Given the description of an element on the screen output the (x, y) to click on. 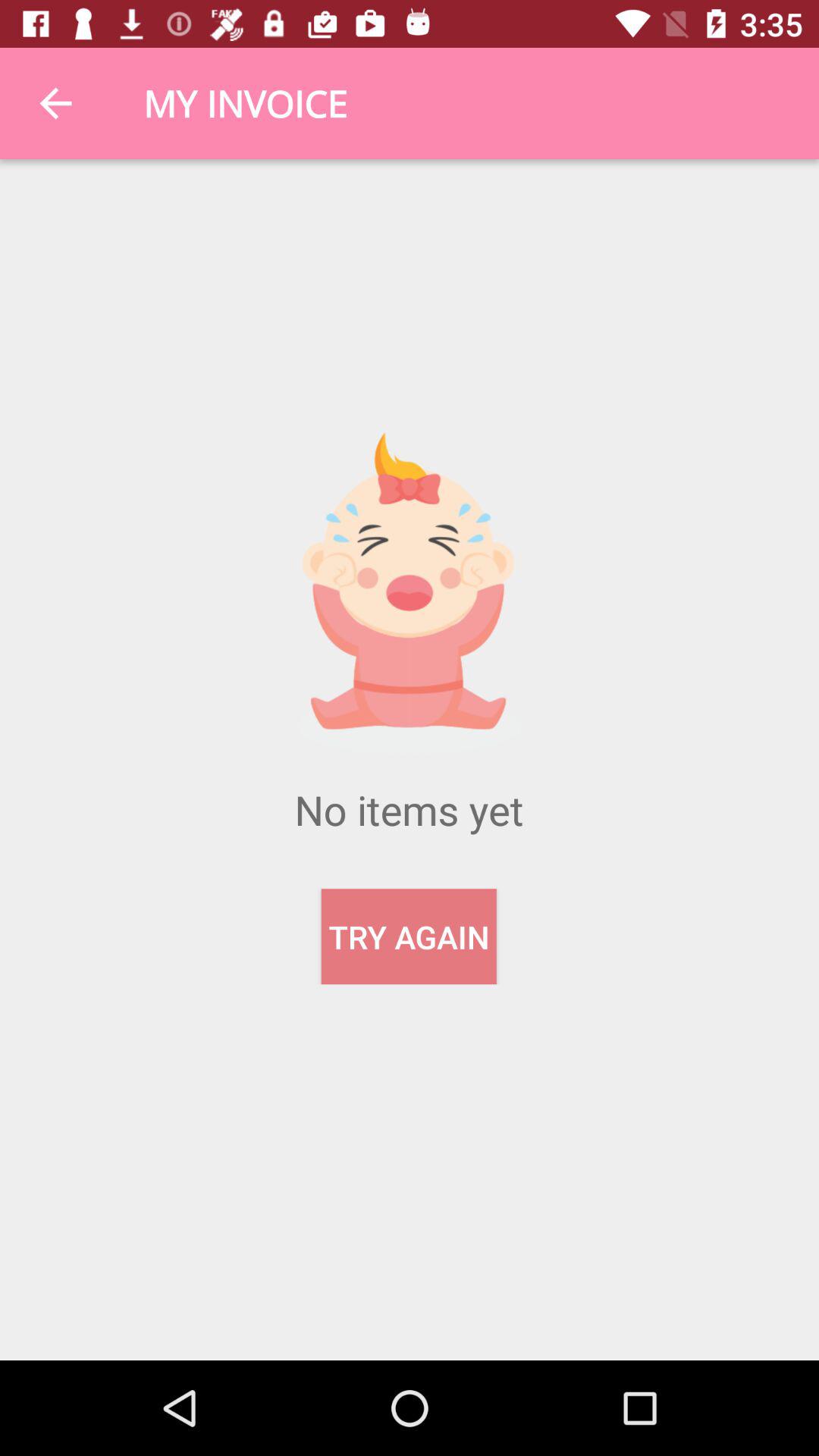
turn on the try again item (408, 936)
